Given the description of an element on the screen output the (x, y) to click on. 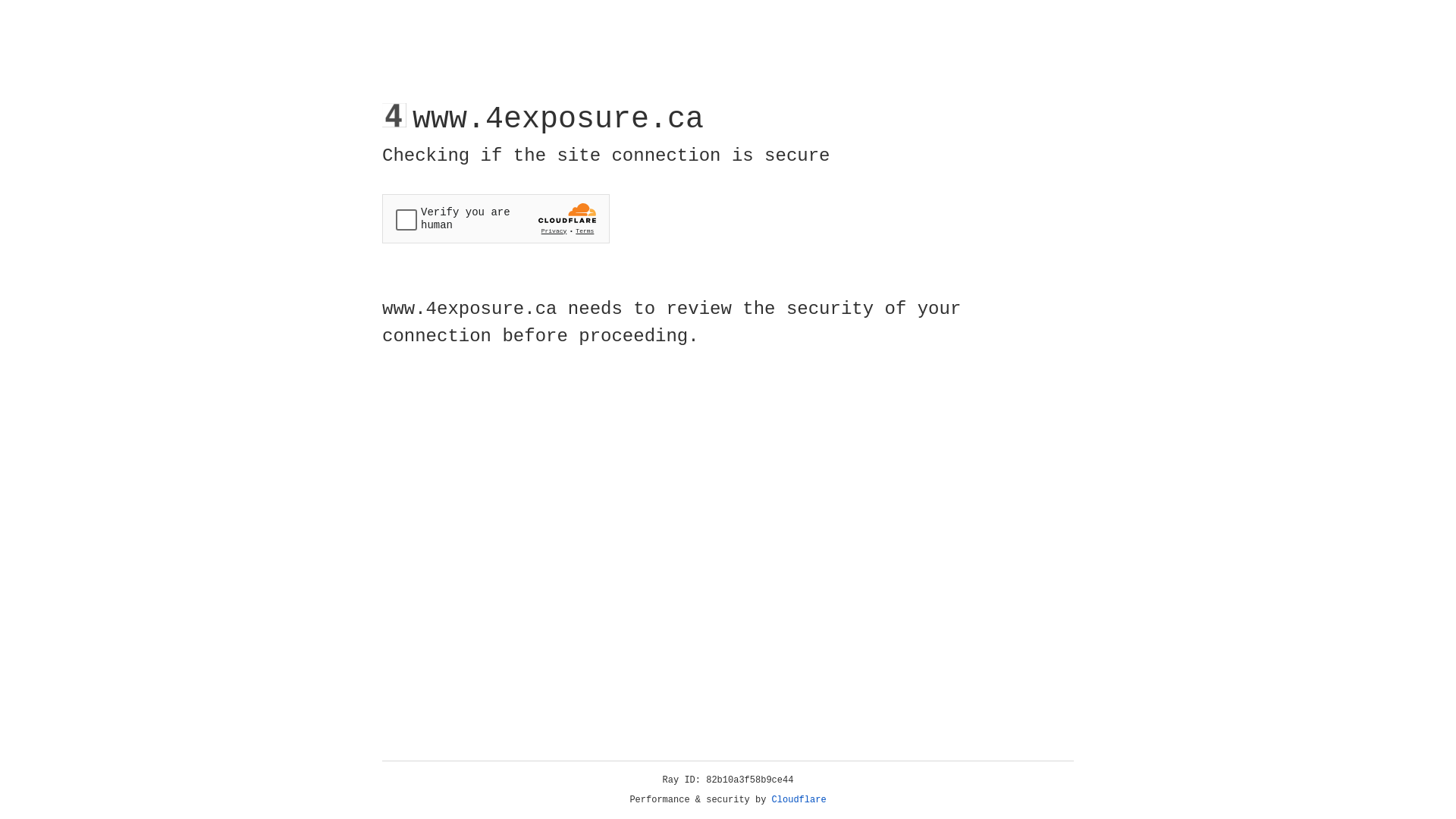
Widget containing a Cloudflare security challenge Element type: hover (495, 218)
Cloudflare Element type: text (798, 799)
